Given the description of an element on the screen output the (x, y) to click on. 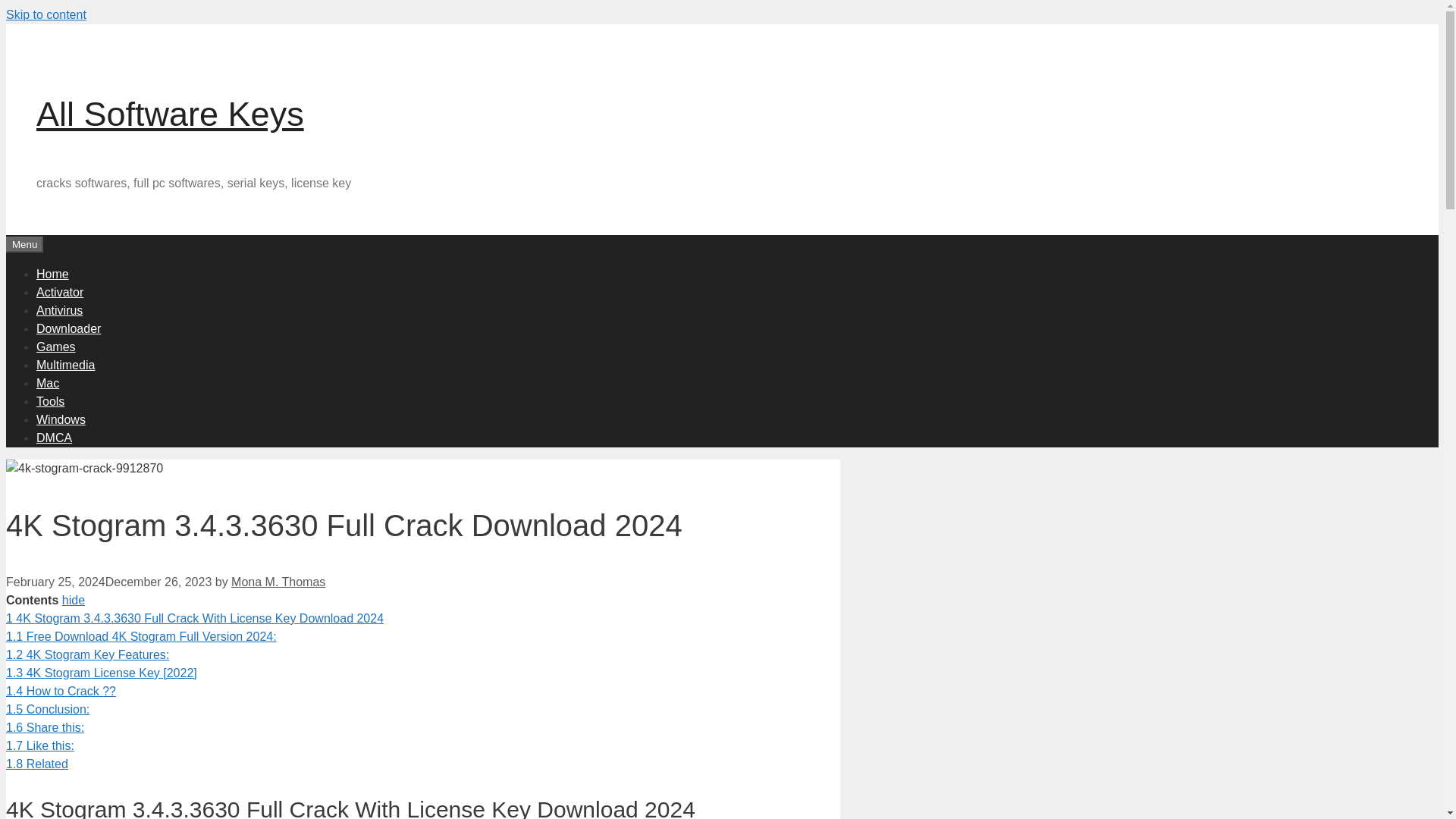
1.8 Related (36, 763)
All Software Keys (170, 114)
1.2 4K Stogram Key Features: (86, 654)
View all posts by Mona M. Thomas (277, 581)
1.5 Conclusion: (46, 708)
Menu (24, 244)
Home (52, 273)
1.6 Share this: (44, 727)
1.7 Like this: (39, 745)
Multimedia (65, 364)
